Given the description of an element on the screen output the (x, y) to click on. 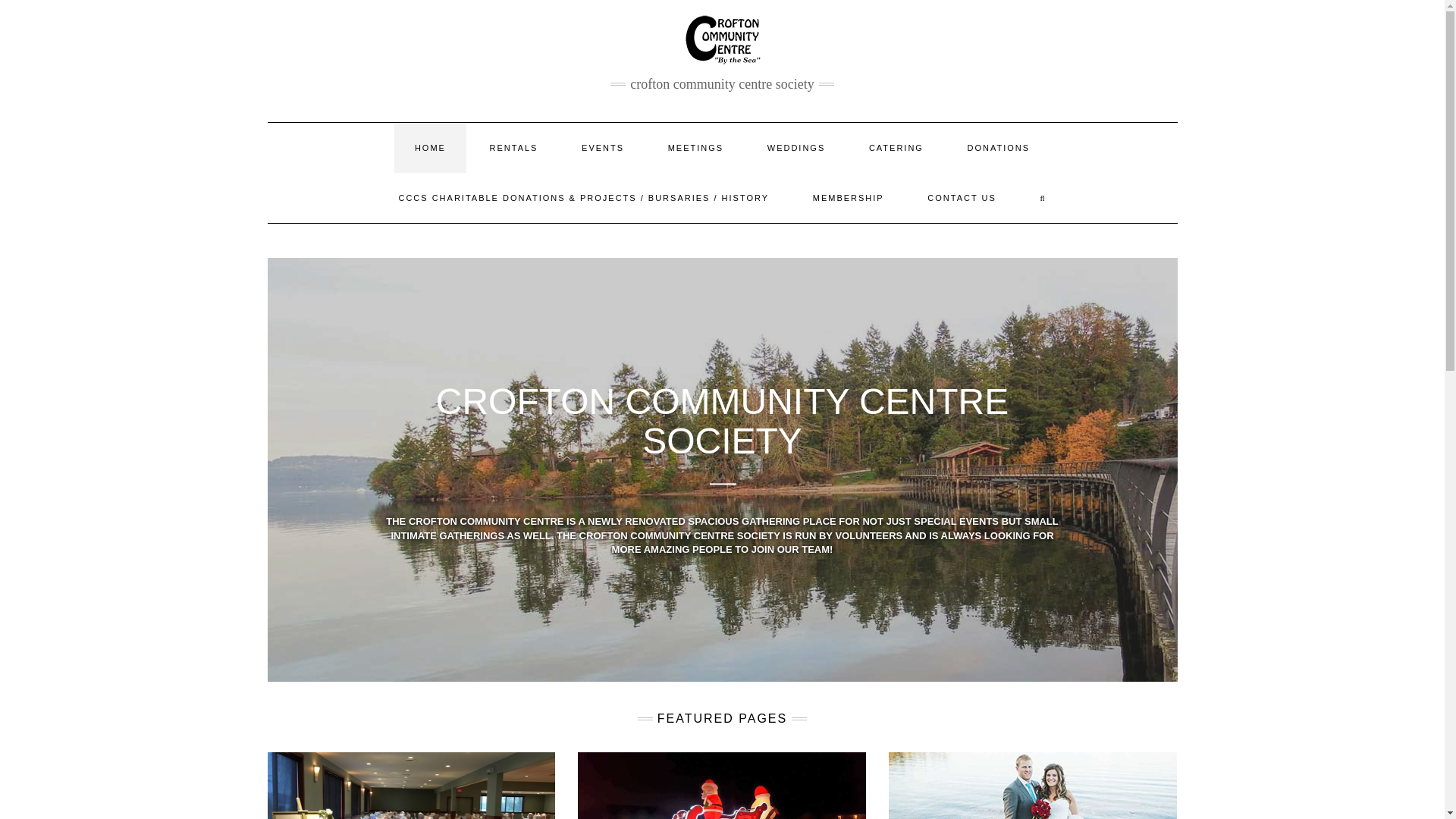
EVENTS (602, 147)
CONTACT US (961, 197)
MEETINGS (695, 147)
HOME (429, 147)
DONATIONS (999, 147)
RENTALS (512, 147)
CROFTON COMMUNITY CENTRE SOCIETY (722, 421)
MEMBERSHIP (848, 197)
CATERING (895, 147)
WEDDINGS (795, 147)
